Given the description of an element on the screen output the (x, y) to click on. 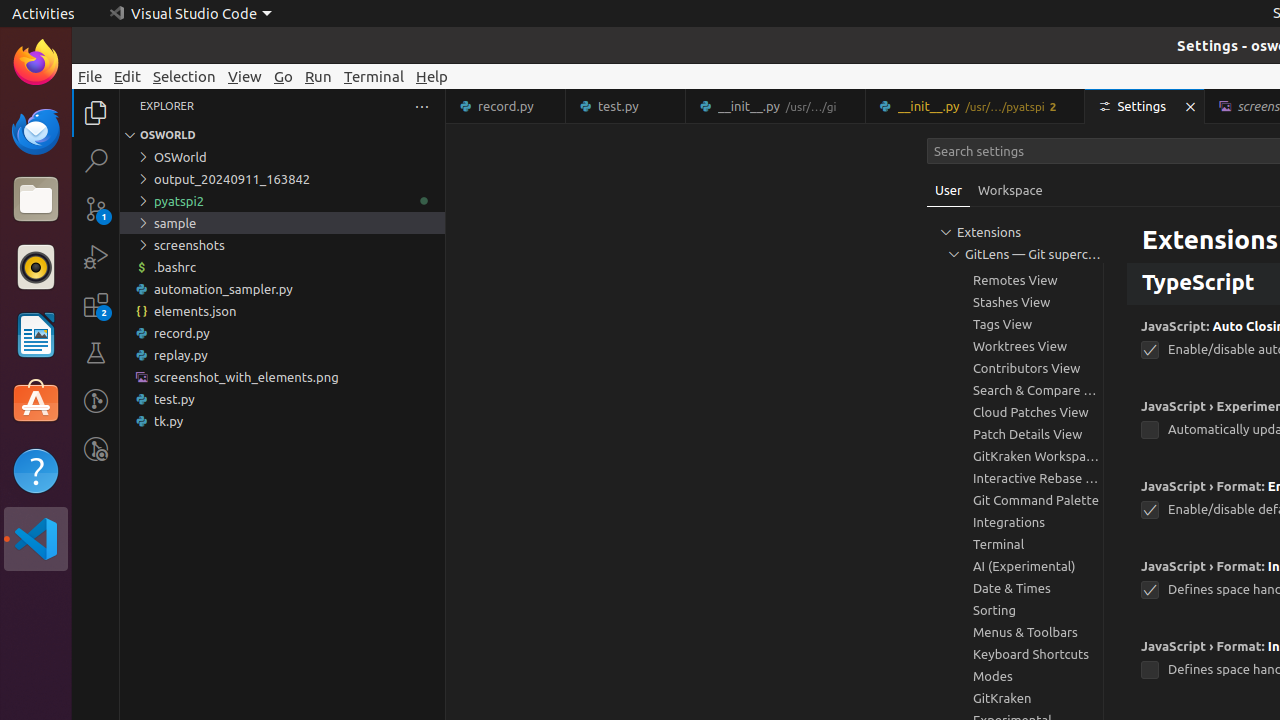
test.py Element type: page-tab (626, 106)
test.py Element type: tree-item (282, 399)
Tags View, group Element type: tree-item (1015, 324)
pyatspi2 Element type: tree-item (282, 201)
Cloud Patches View, group Element type: tree-item (1015, 412)
